Given the description of an element on the screen output the (x, y) to click on. 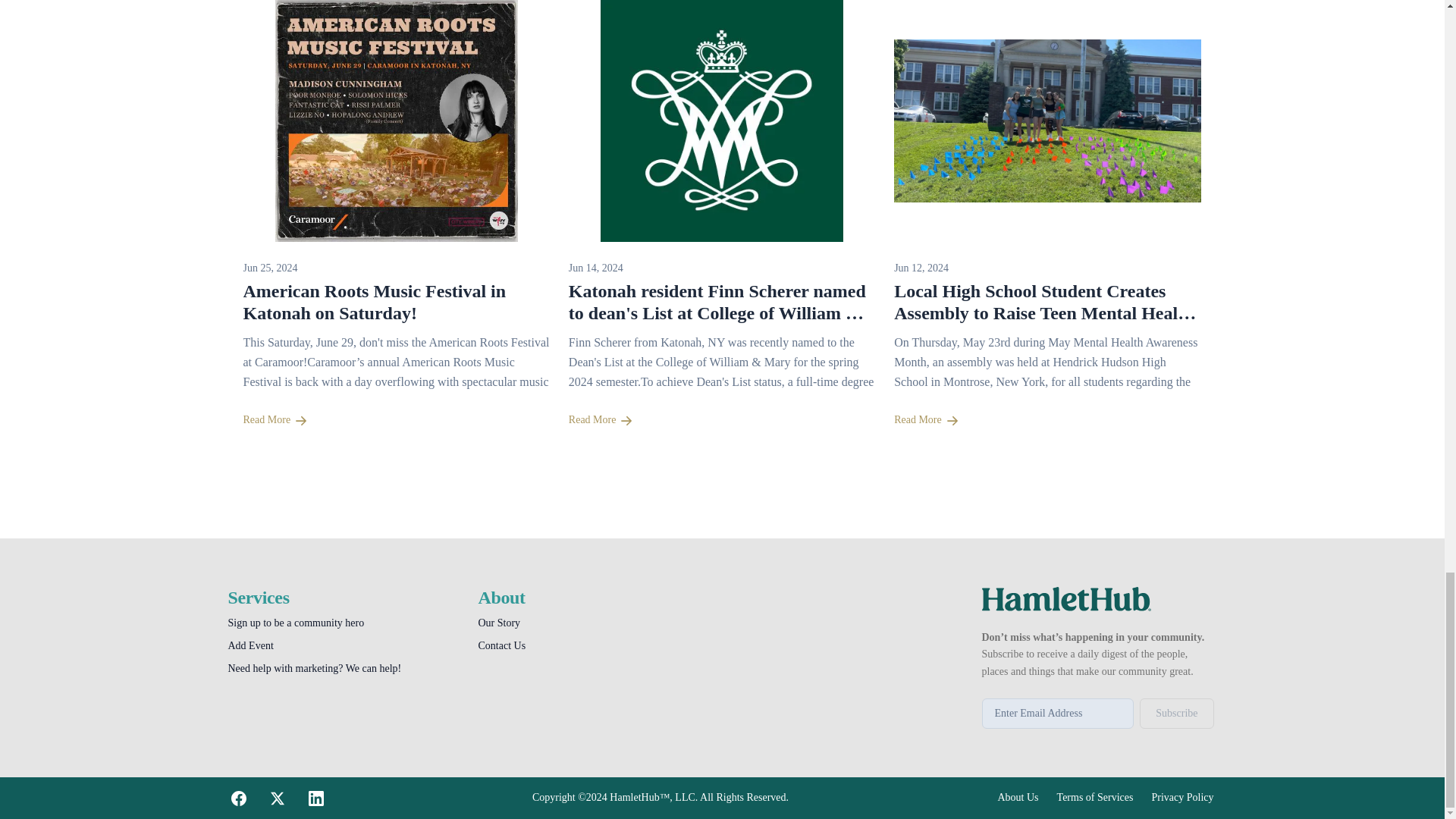
Need help with marketing? We can help! (314, 668)
Read More (1047, 419)
American Roots Music Festival in Katonah on Saturday! (374, 301)
Our Story (498, 622)
Read More (722, 419)
Sign up to be a community hero (295, 622)
Add Event (250, 645)
Contact Us (501, 645)
Read More (396, 419)
